Given the description of an element on the screen output the (x, y) to click on. 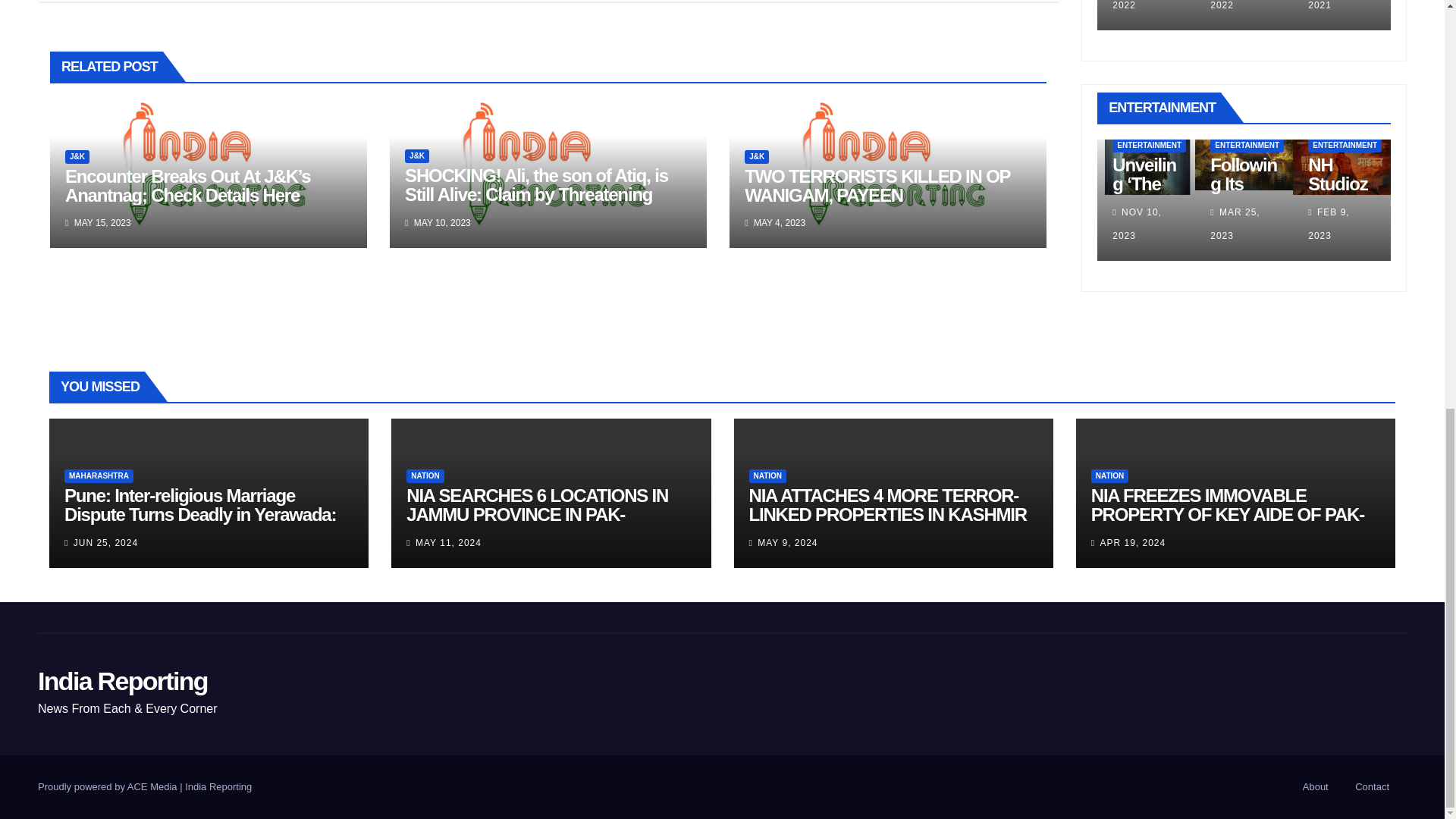
Permalink to: TWO TERRORISTS KILLED IN OP WANIGAM, PAYEEN (877, 185)
TWO TERRORISTS KILLED IN OP WANIGAM, PAYEEN (877, 185)
